Given the description of an element on the screen output the (x, y) to click on. 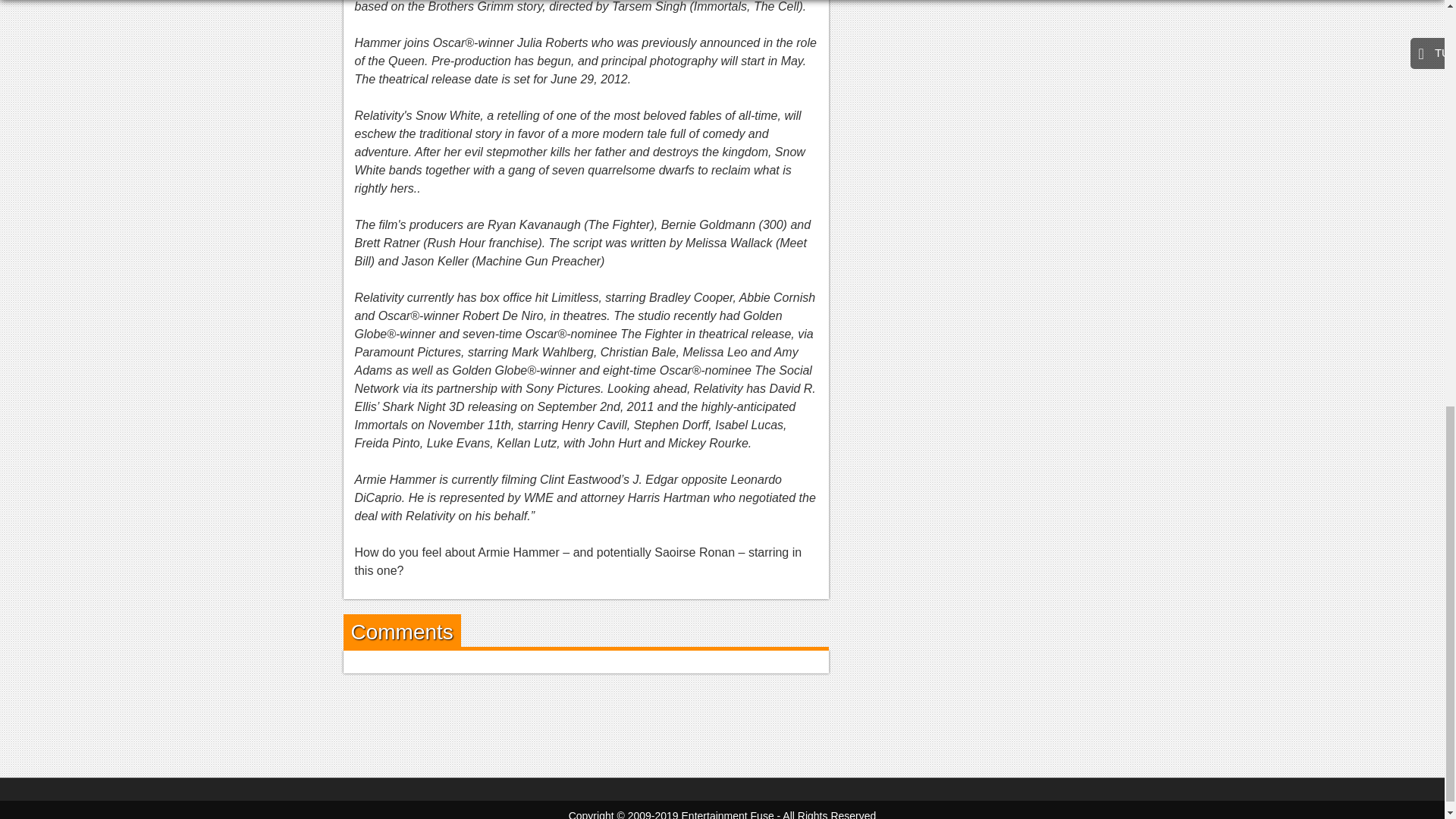
Advertisement (721, 722)
